Given the description of an element on the screen output the (x, y) to click on. 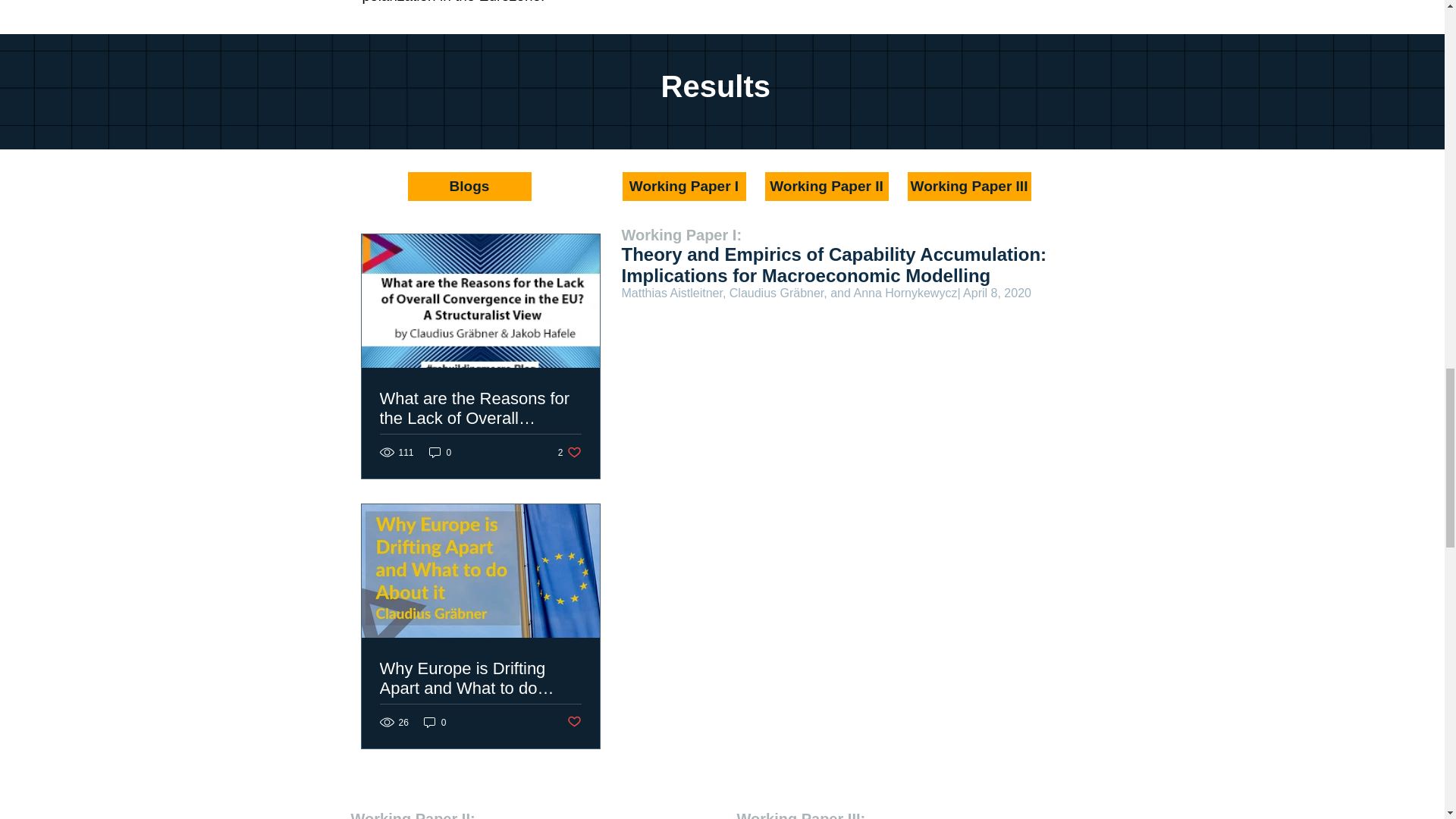
Why Europe is Drifting Apart and What to do About it (479, 678)
Post not marked as liked (573, 722)
0 (440, 452)
0 (435, 721)
Working Paper I (683, 186)
